Given the description of an element on the screen output the (x, y) to click on. 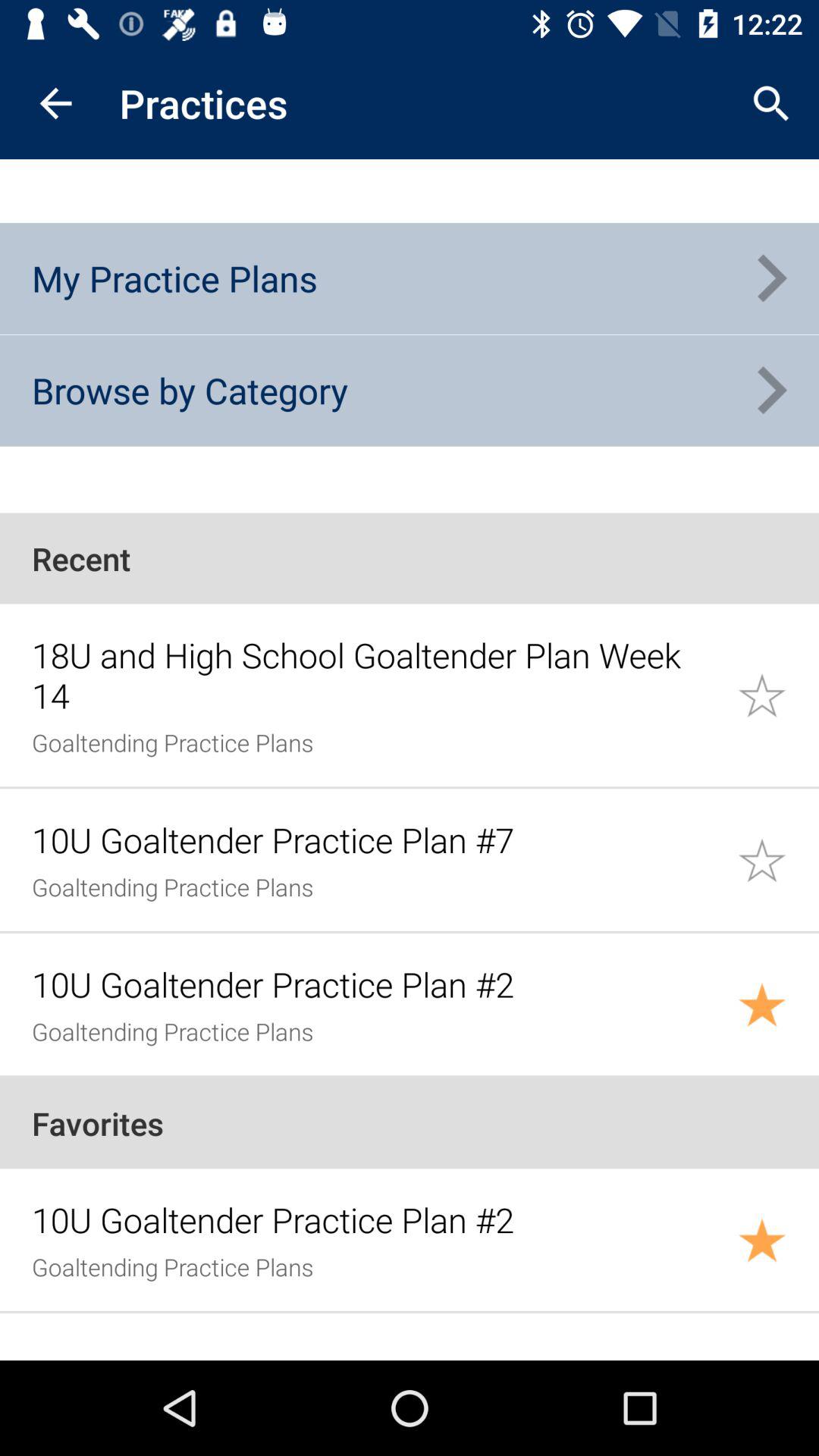
open the app to the left of practices (55, 103)
